Given the description of an element on the screen output the (x, y) to click on. 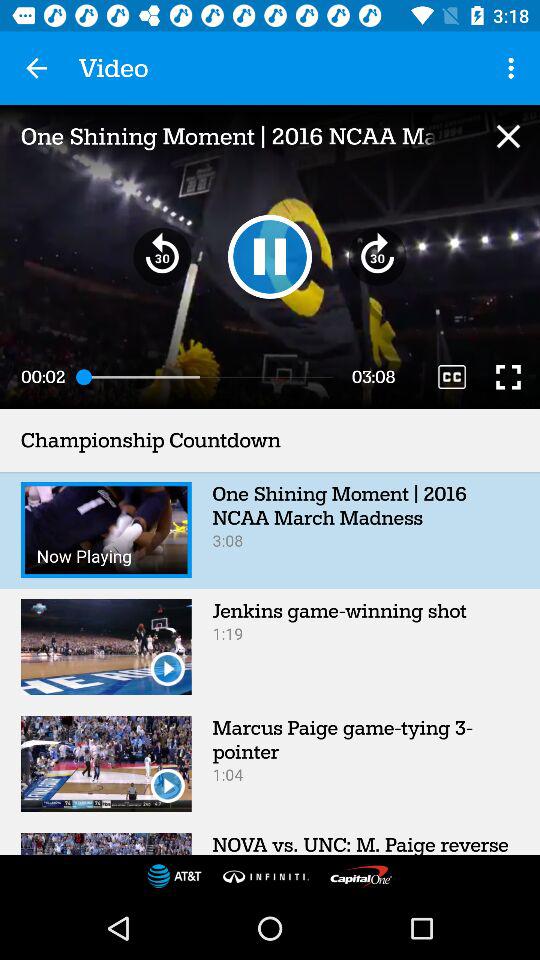
go forward 30 seconds (377, 256)
